Given the description of an element on the screen output the (x, y) to click on. 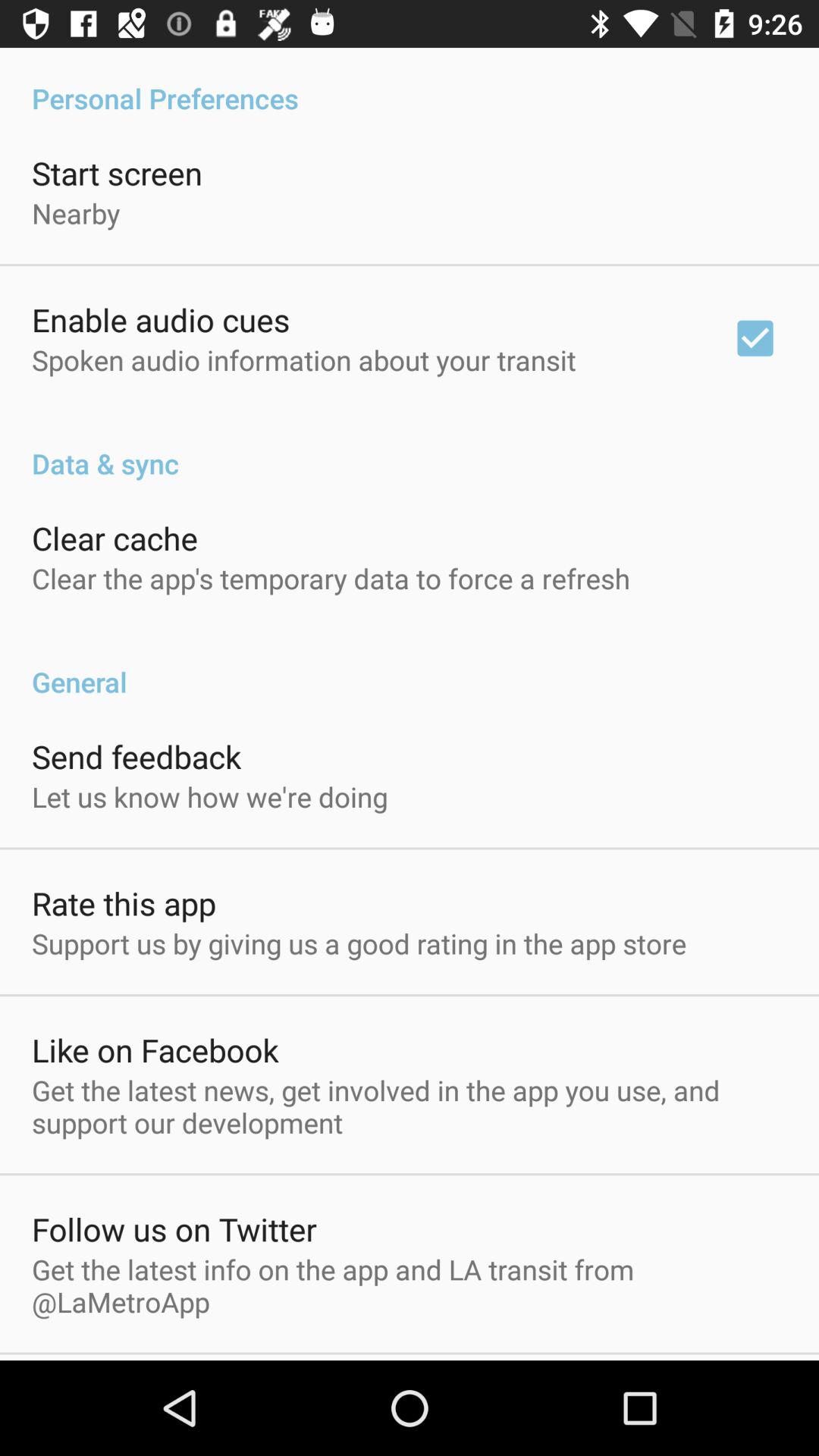
select the item below the personal preferences (755, 338)
